Given the description of an element on the screen output the (x, y) to click on. 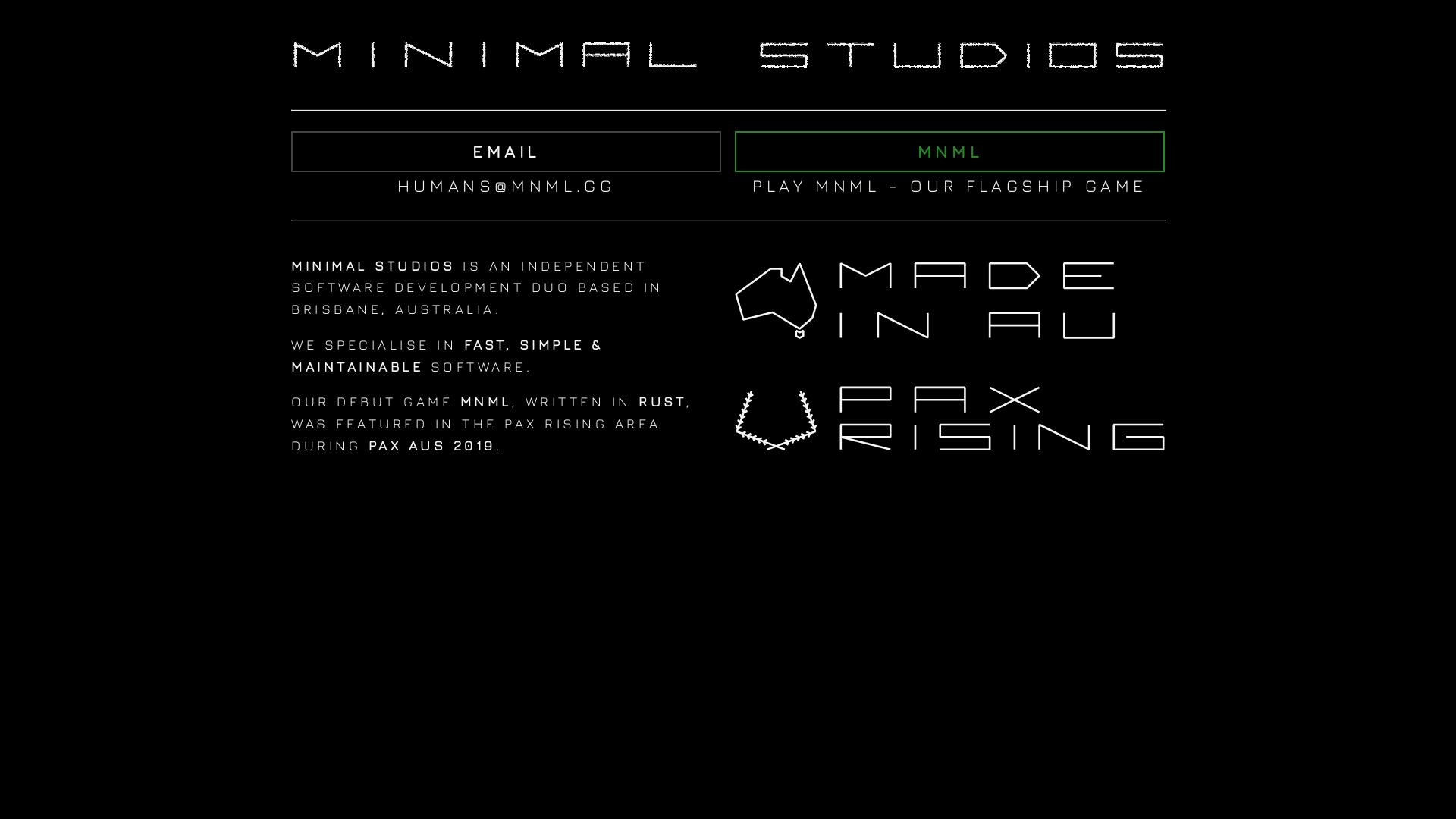
MNML Element type: text (949, 151)
EMAIL Element type: text (506, 151)
